Given the description of an element on the screen output the (x, y) to click on. 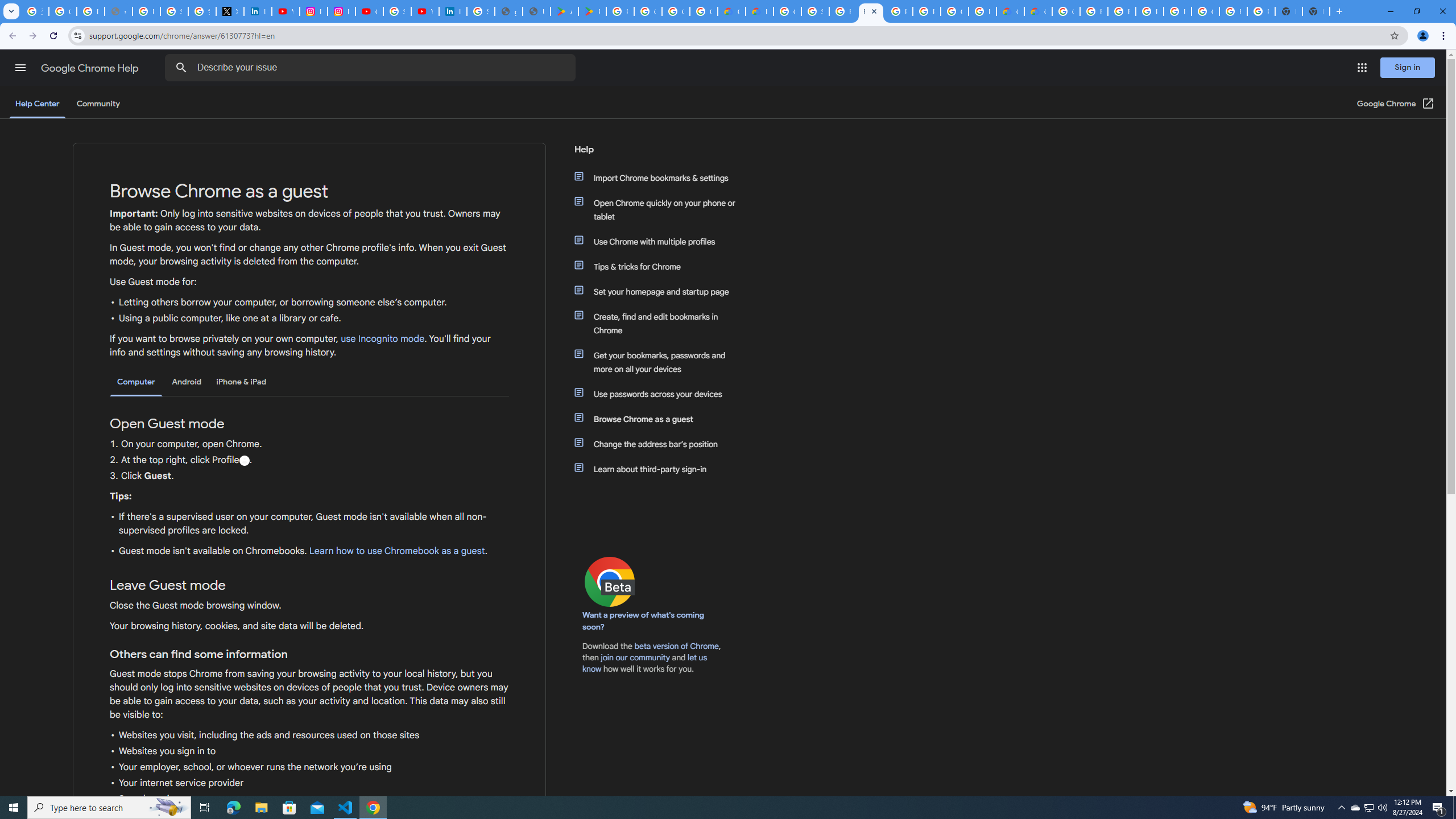
Sign in - Google Accounts (397, 11)
beta version of Chrome (676, 646)
LinkedIn Privacy Policy (257, 11)
